Given the description of an element on the screen output the (x, y) to click on. 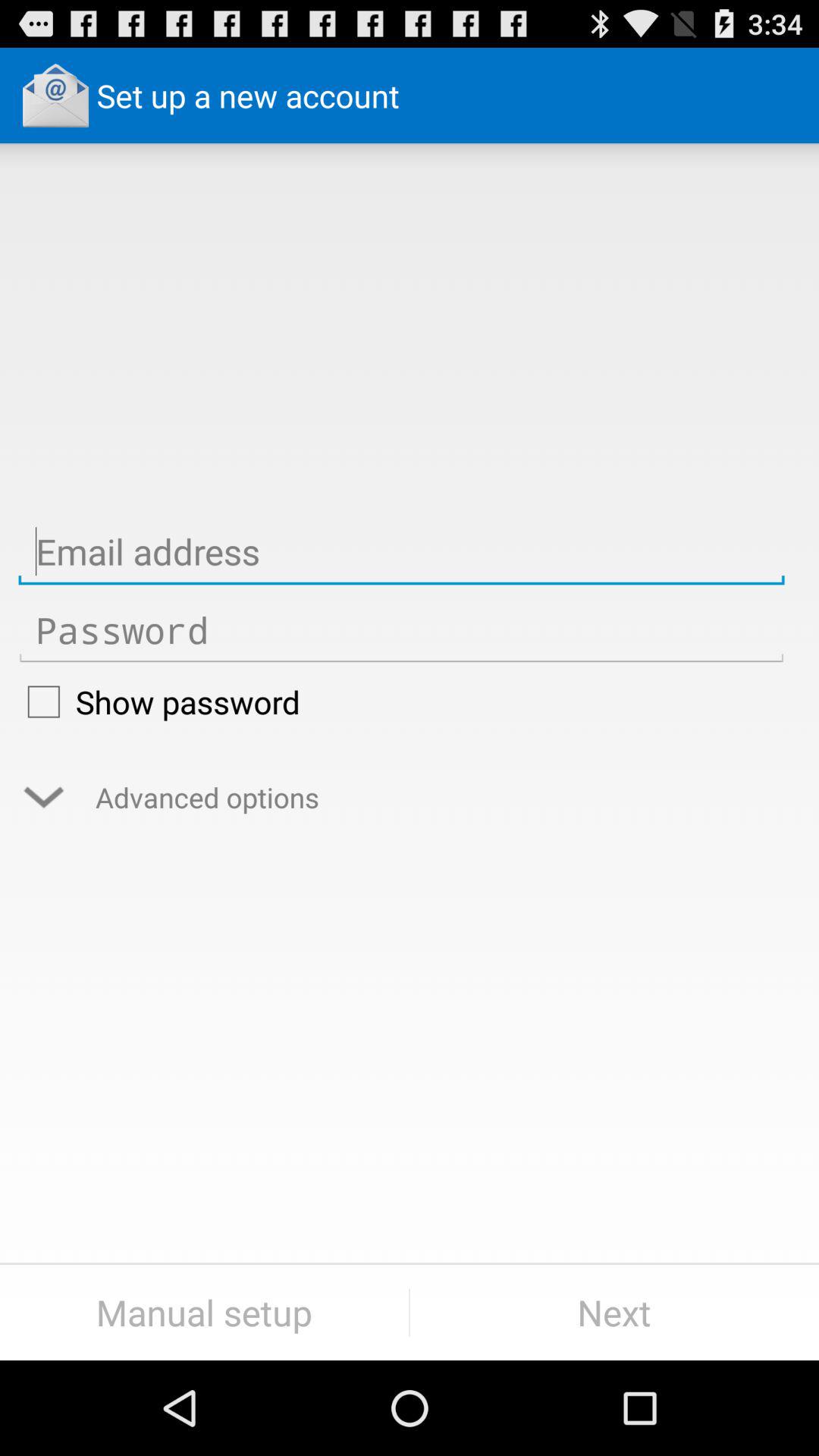
press the next icon (614, 1312)
